Given the description of an element on the screen output the (x, y) to click on. 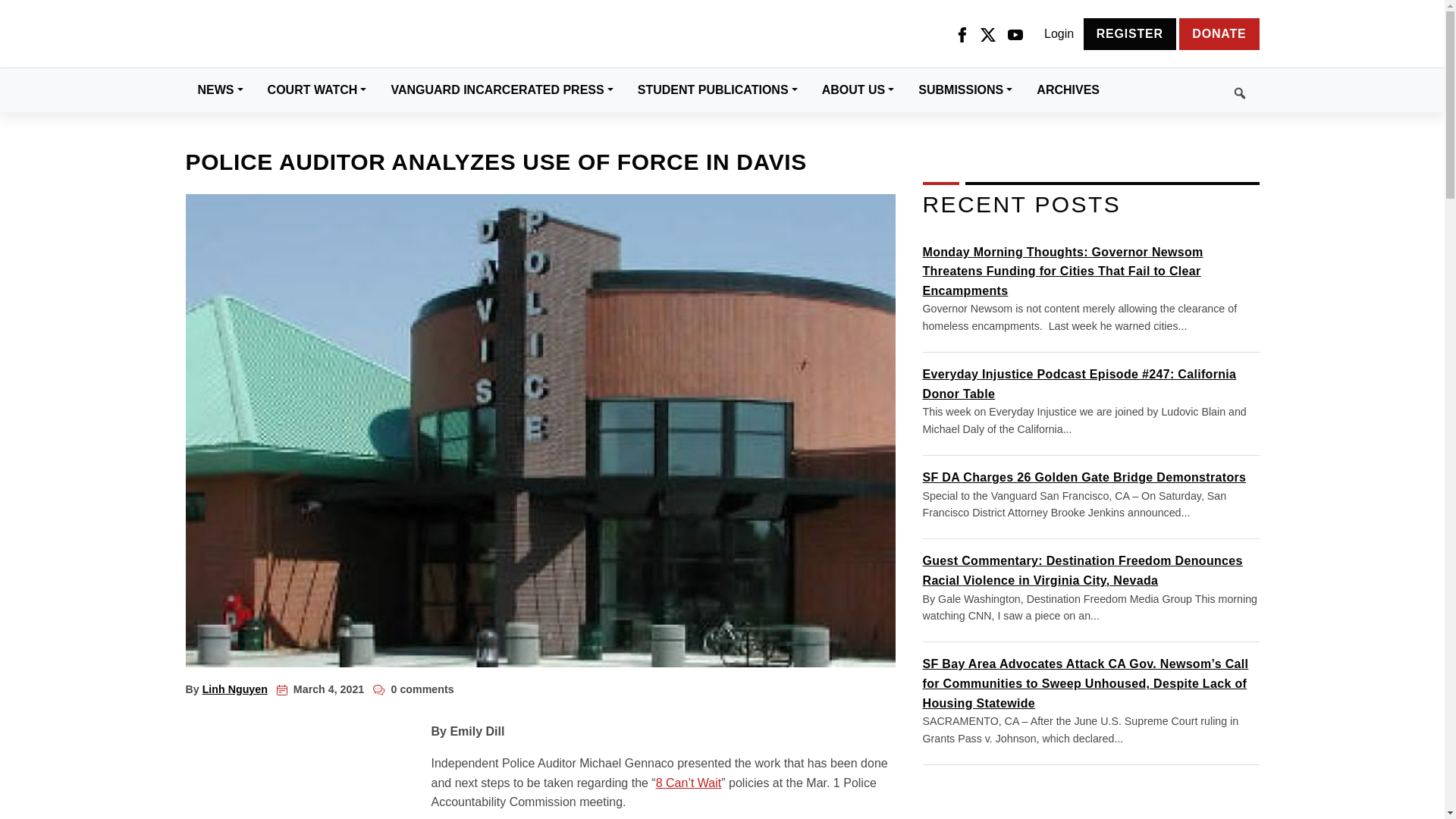
YouTube (1015, 34)
DONATE (1219, 33)
REGISTER (1129, 33)
Search (1185, 90)
NEWS (219, 89)
Login (1058, 34)
Twitter (987, 34)
Facebook (962, 34)
